Given the description of an element on the screen output the (x, y) to click on. 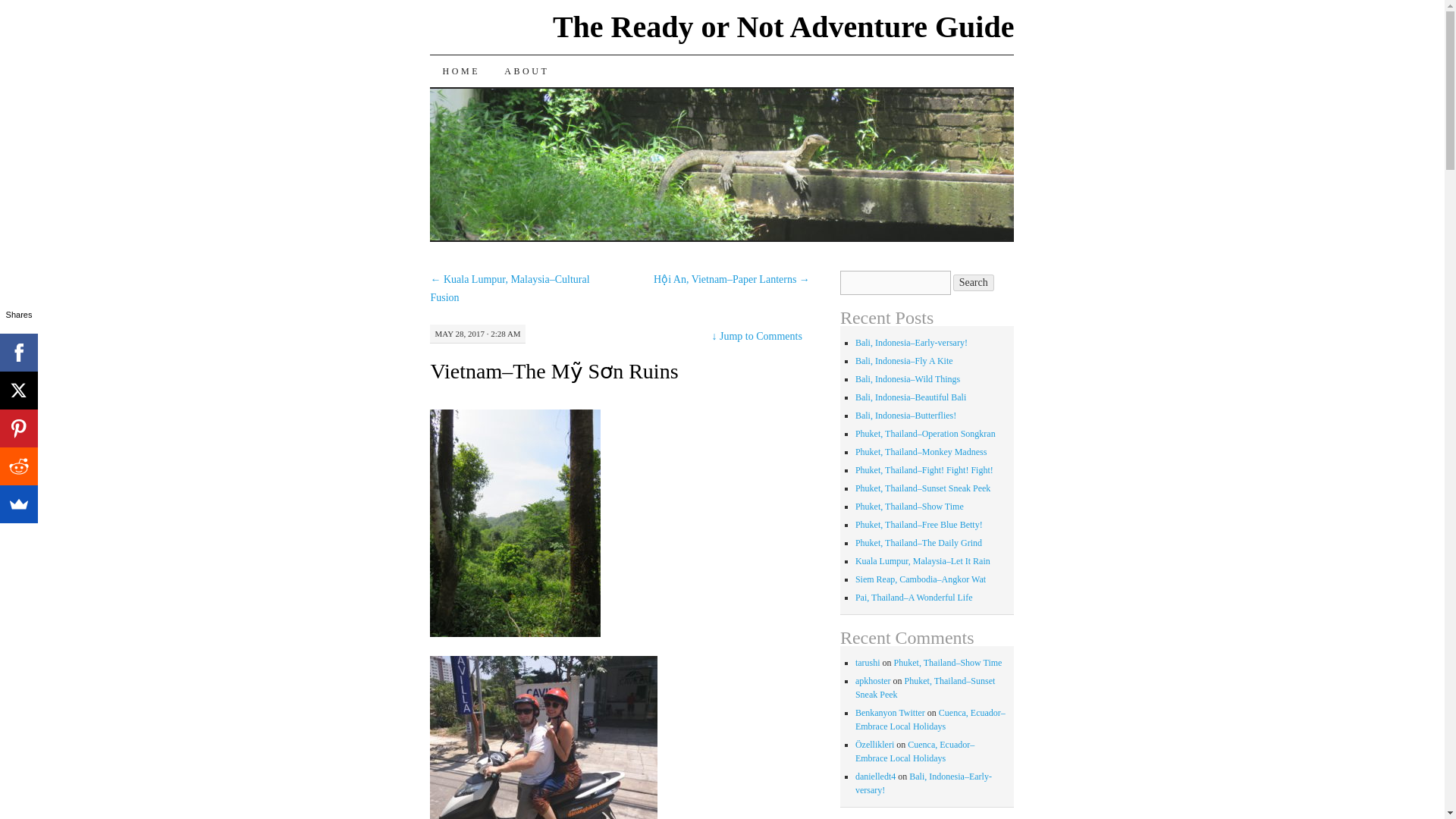
The Ready or Not Adventure Guide (783, 26)
HOME (460, 70)
ABOUT (526, 70)
Facebook (18, 352)
The Ready or Not Adventure Guide (783, 26)
Pinterest (18, 428)
X (18, 390)
Search (973, 282)
